Given the description of an element on the screen output the (x, y) to click on. 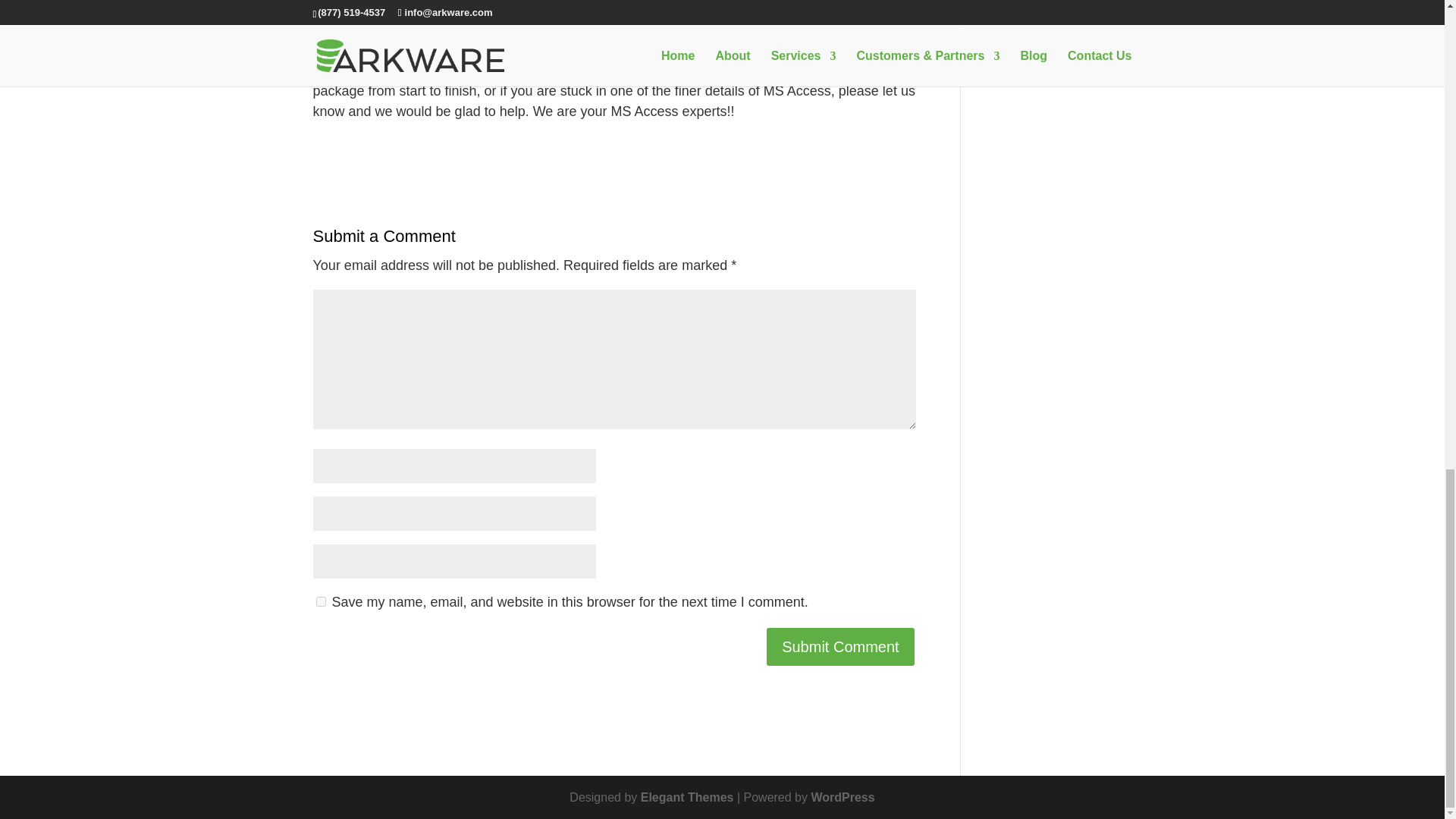
Submit Comment (840, 646)
yes (319, 601)
Premium WordPress Themes (686, 797)
